Given the description of an element on the screen output the (x, y) to click on. 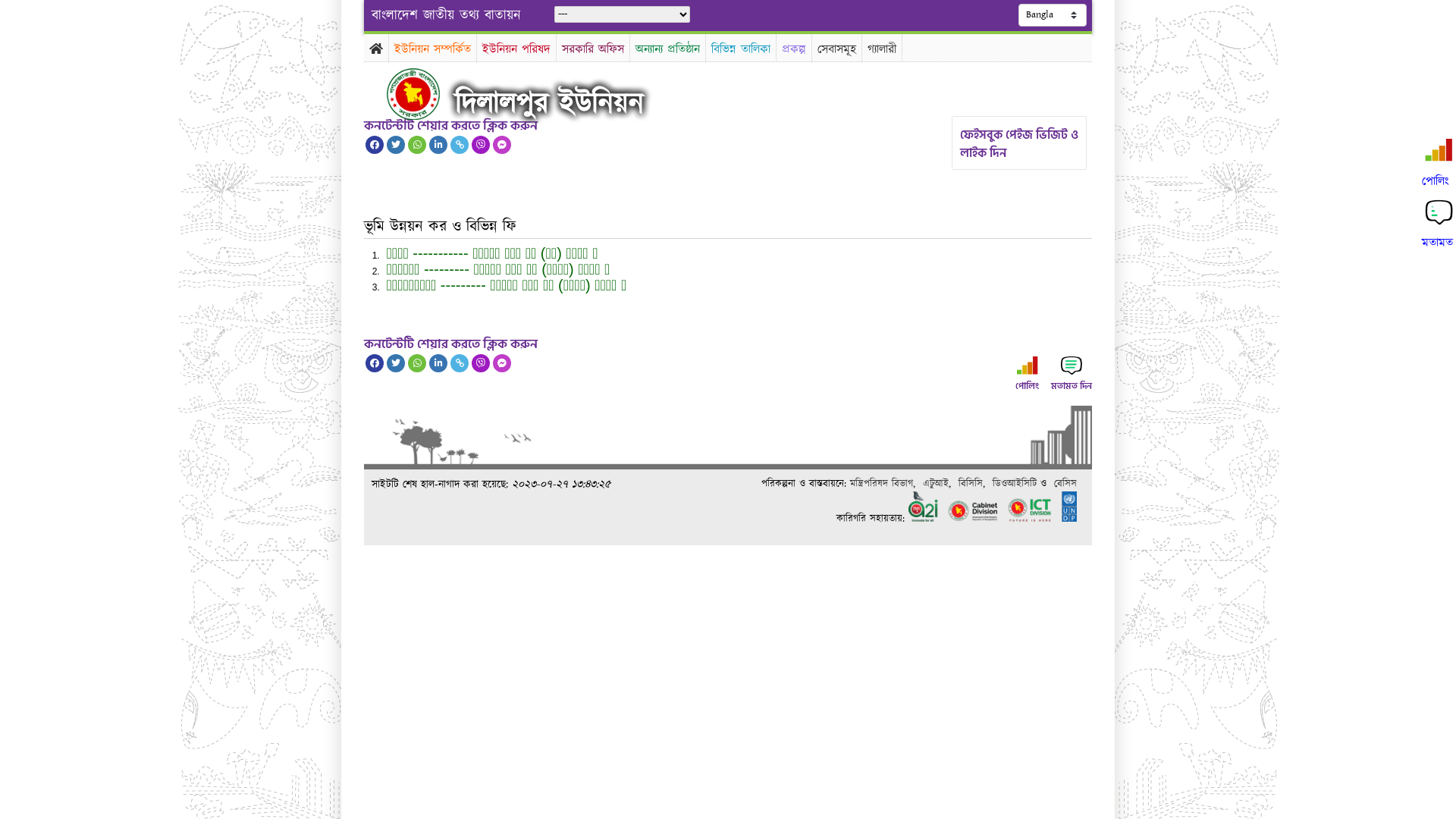

                
             Element type: hover (426, 93)
